Given the description of an element on the screen output the (x, y) to click on. 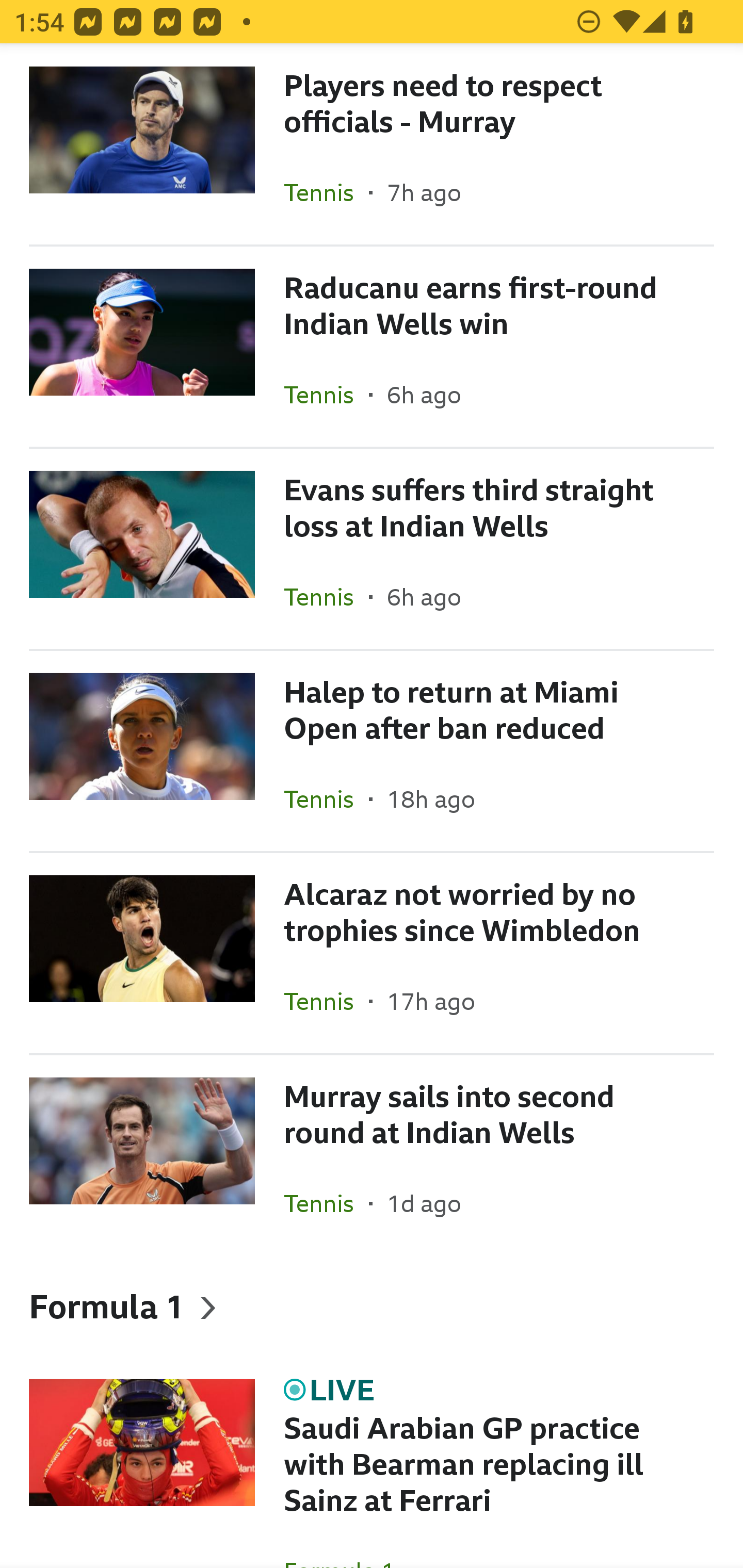
Formula 1, Heading Formula 1    (371, 1305)
